Given the description of an element on the screen output the (x, y) to click on. 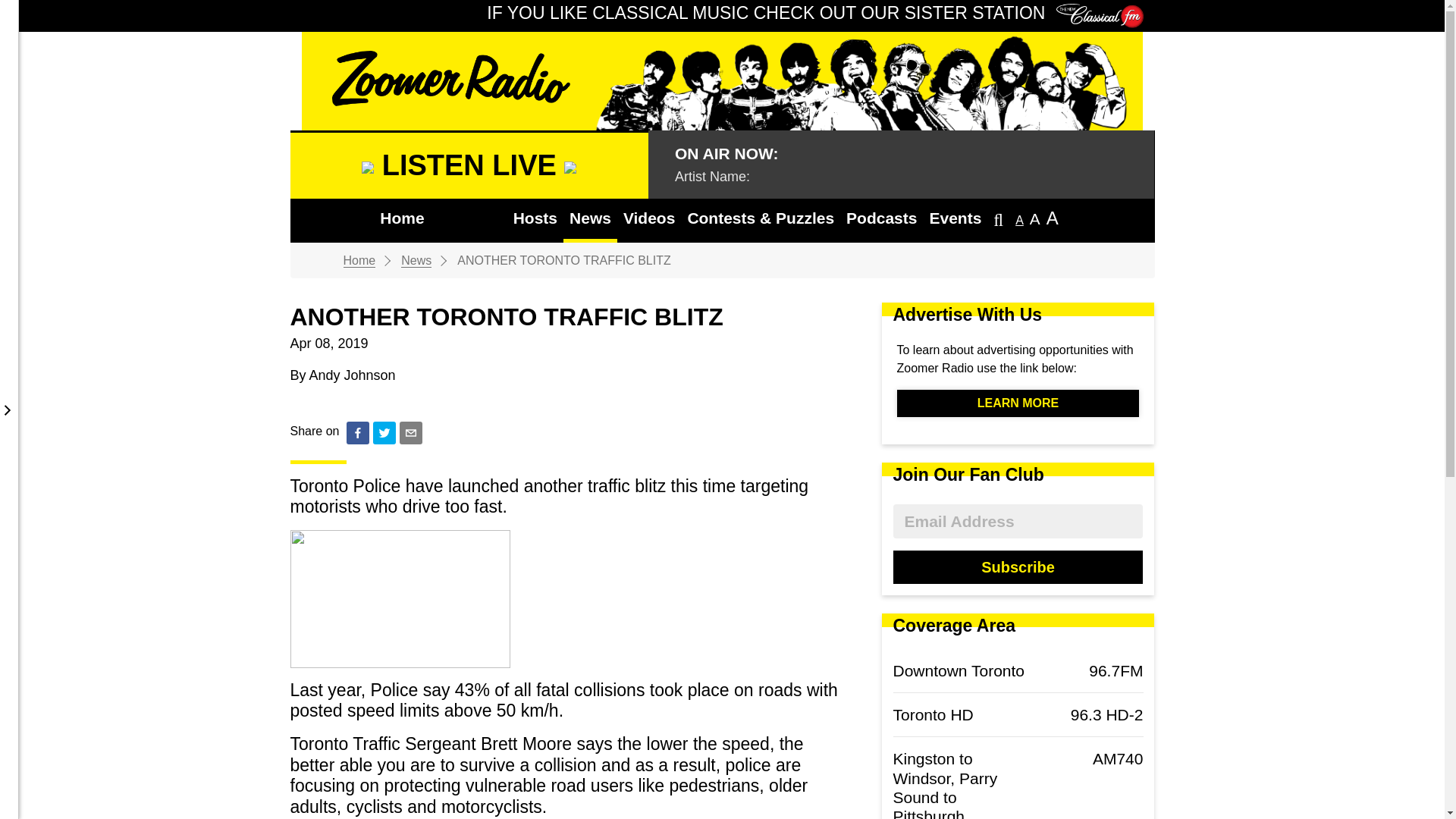
Events (955, 220)
IF YOU LIKE CLASSICAL MUSIC CHECK OUT OUR SISTER STATION (814, 14)
Hosts (534, 220)
Home (401, 220)
Shows (468, 219)
Videos (649, 220)
News (590, 220)
ANOTHER TORONTO TRAFFIC BLITZ (564, 259)
Home (358, 260)
News (415, 260)
